Given the description of an element on the screen output the (x, y) to click on. 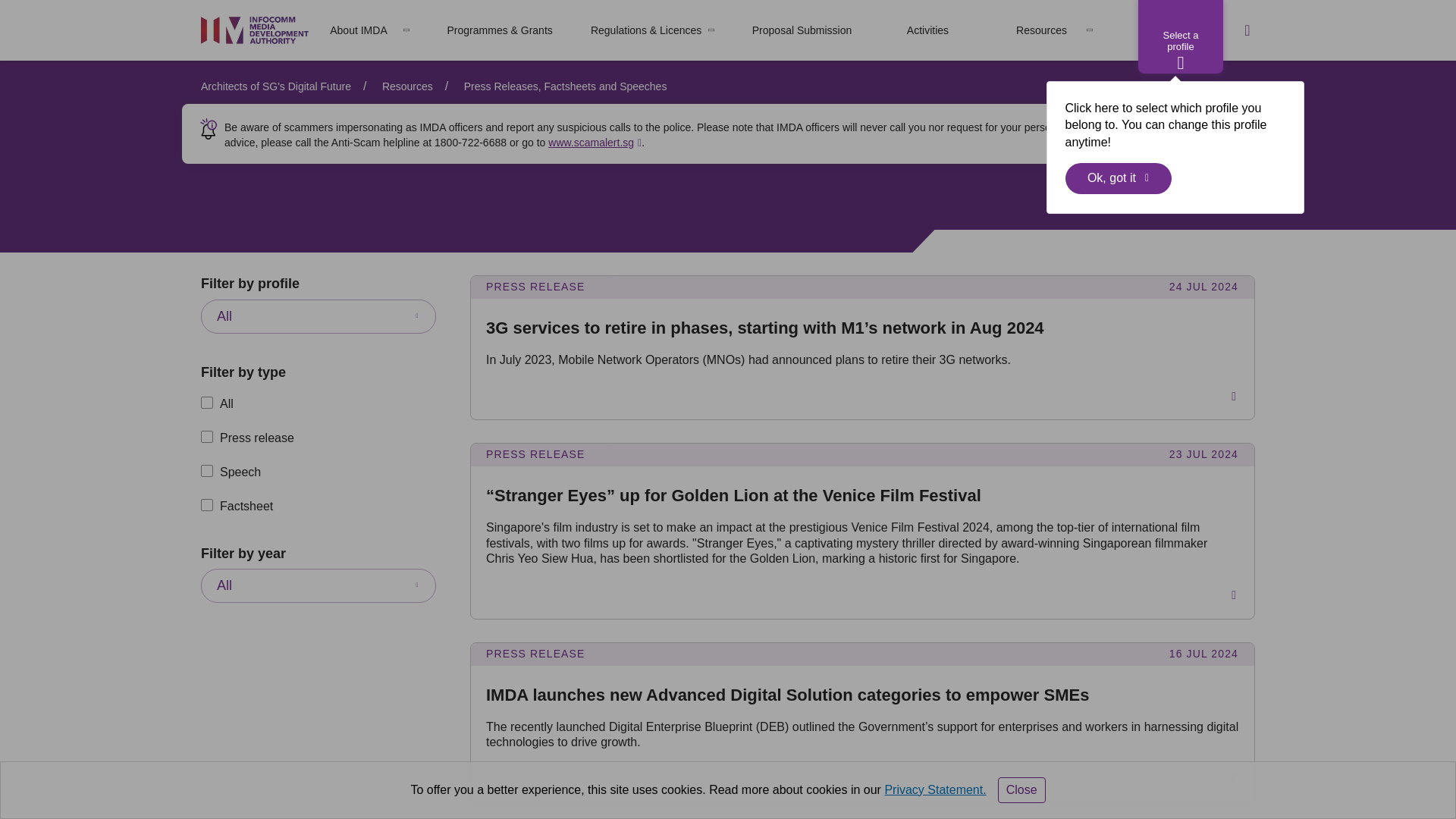
Select a profile (1180, 36)
IMDA (254, 30)
About IMDA (358, 30)
